Given the description of an element on the screen output the (x, y) to click on. 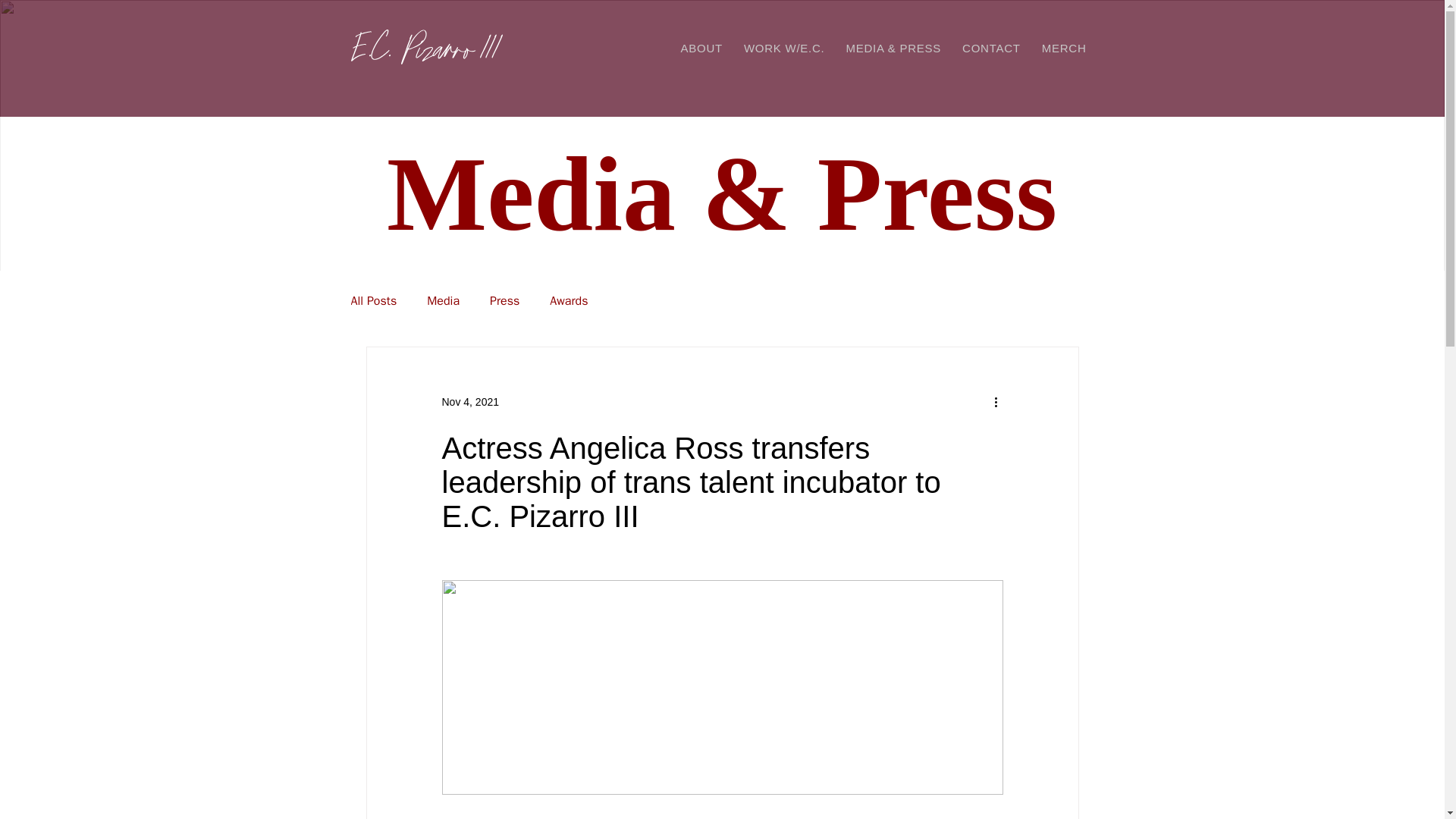
Press (504, 300)
ABOUT (700, 48)
CONTACT (991, 48)
MERCH (1063, 48)
Awards (569, 300)
All Posts (373, 300)
Media (443, 300)
Nov 4, 2021 (470, 401)
